Given the description of an element on the screen output the (x, y) to click on. 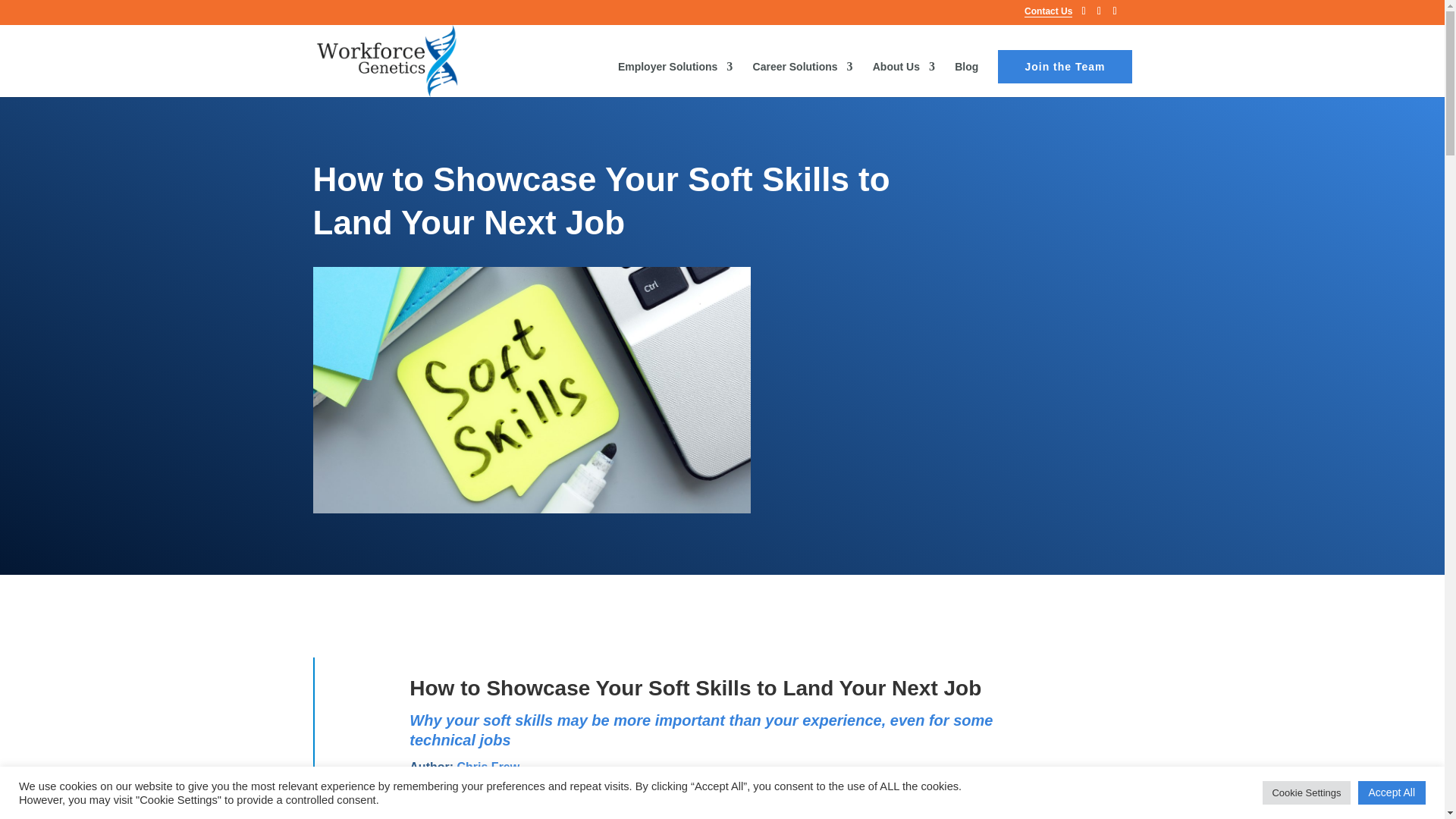
Employer Solutions (674, 78)
About Us (903, 78)
Join the Team (1064, 66)
Contact Us (1048, 11)
Career Solutions (802, 78)
Chris Frew (488, 766)
soft-skills (532, 389)
